Given the description of an element on the screen output the (x, y) to click on. 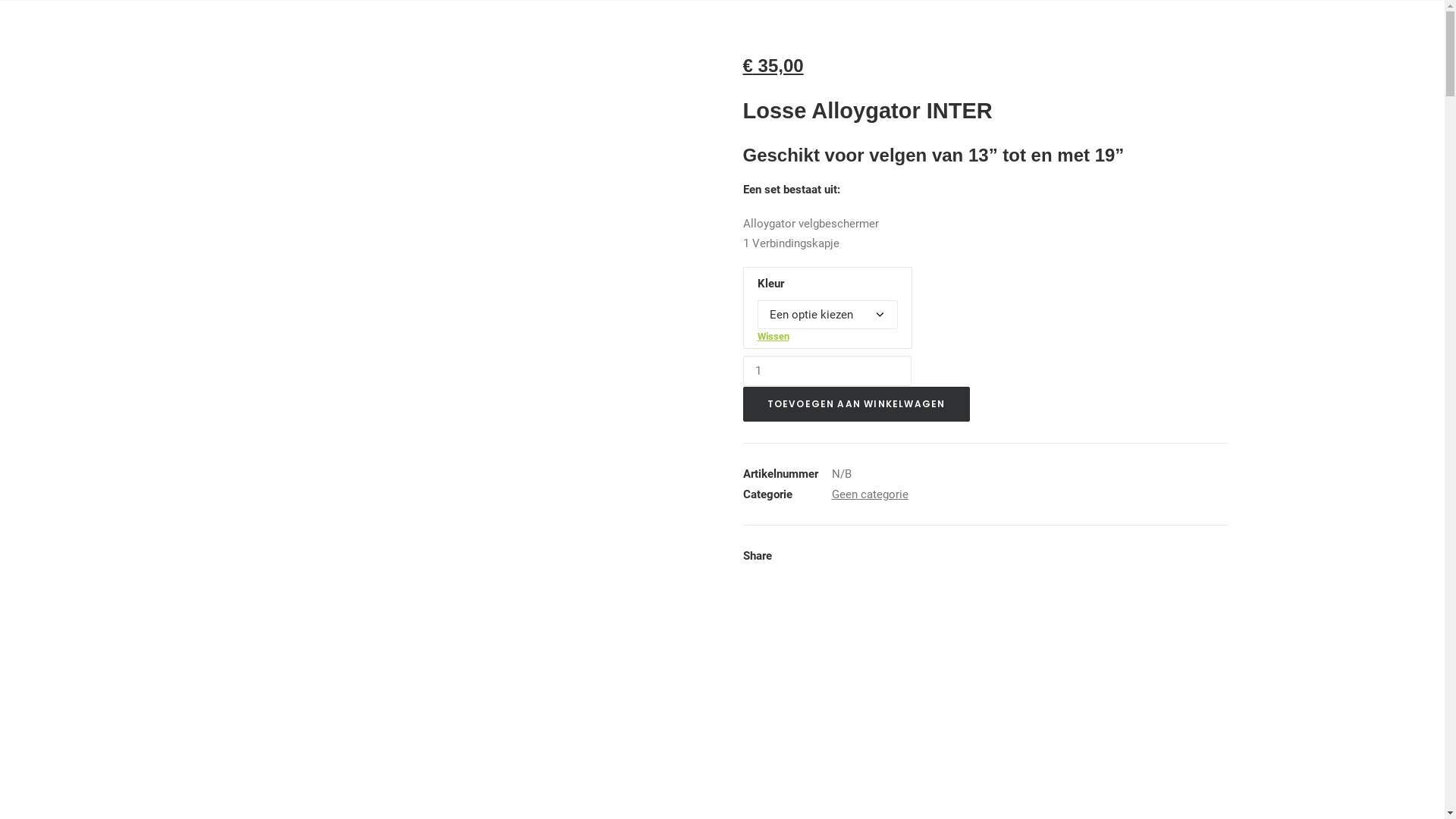
TOEVOEGEN AAN WINKELWAGEN Element type: text (856, 403)
Aantal Element type: hover (827, 370)
Wissen Element type: text (772, 336)
Geen categorie Element type: text (869, 494)
